Given the description of an element on the screen output the (x, y) to click on. 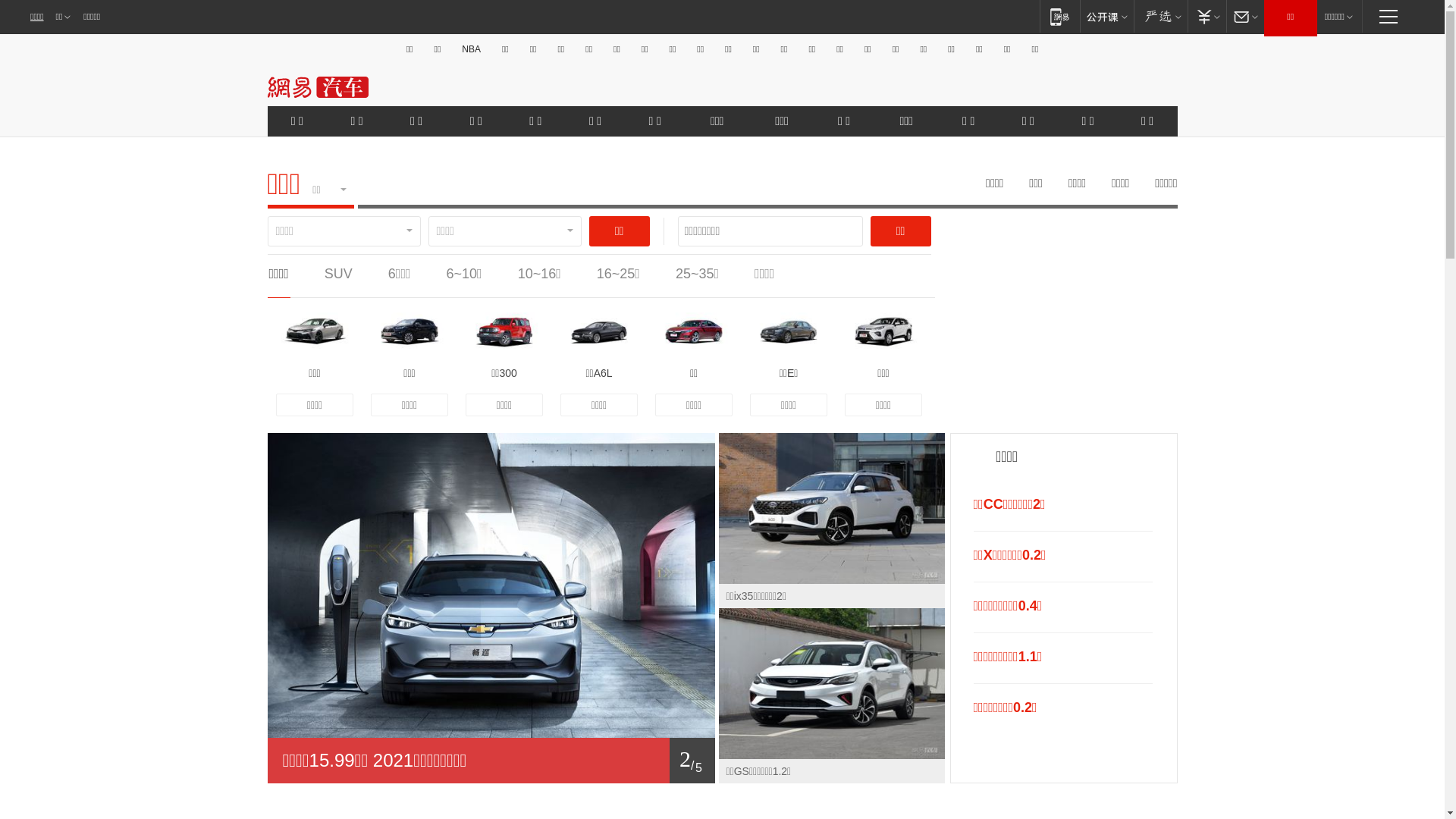
1/ 5 Element type: text (490, 760)
SUV Element type: text (338, 273)
NBA Element type: text (471, 48)
